Given the description of an element on the screen output the (x, y) to click on. 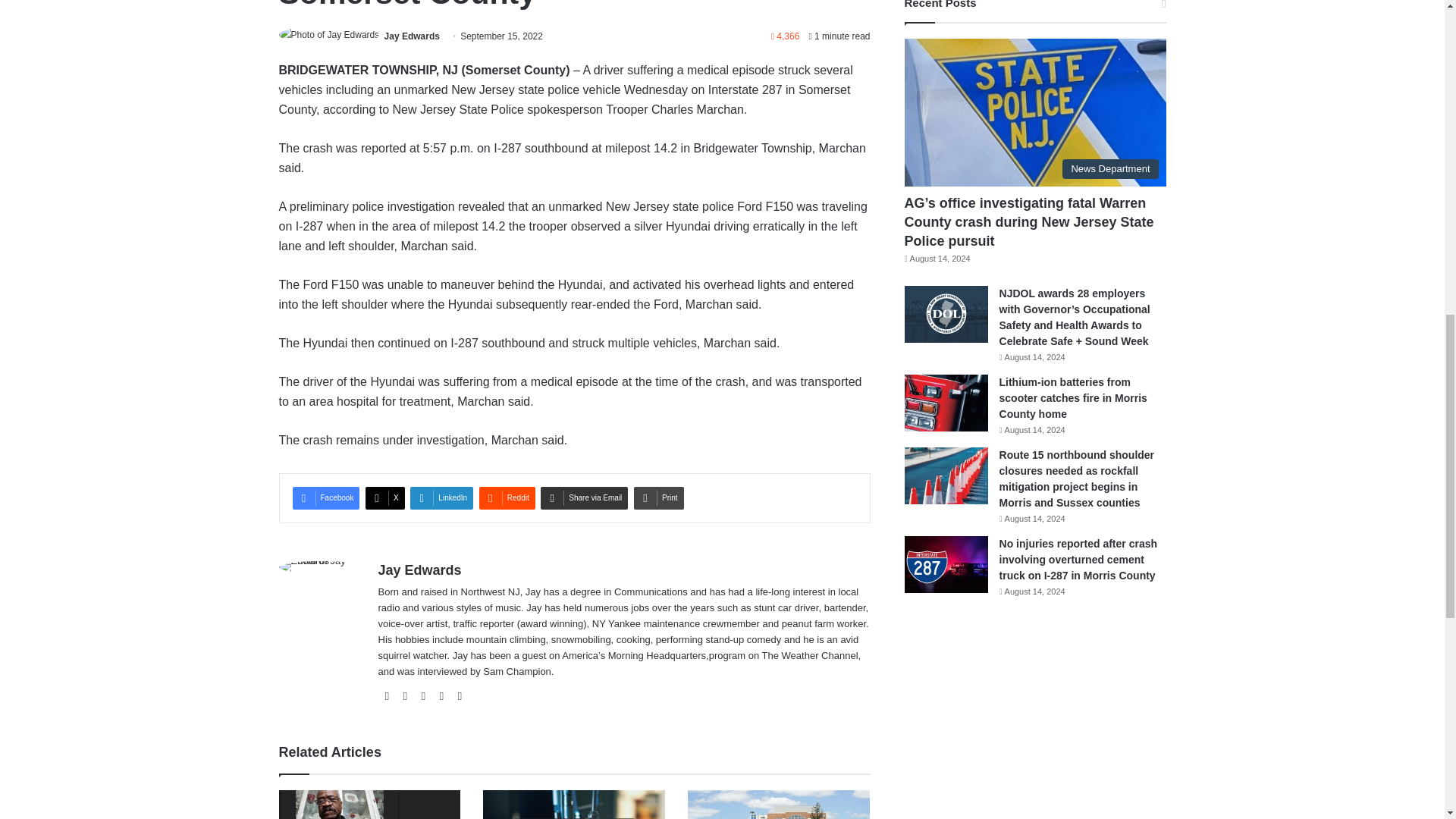
Jay Edwards (411, 36)
Print (658, 497)
LinkedIn (441, 497)
Share via Email (583, 497)
Reddit (507, 497)
X (384, 497)
Facebook (325, 497)
